Given the description of an element on the screen output the (x, y) to click on. 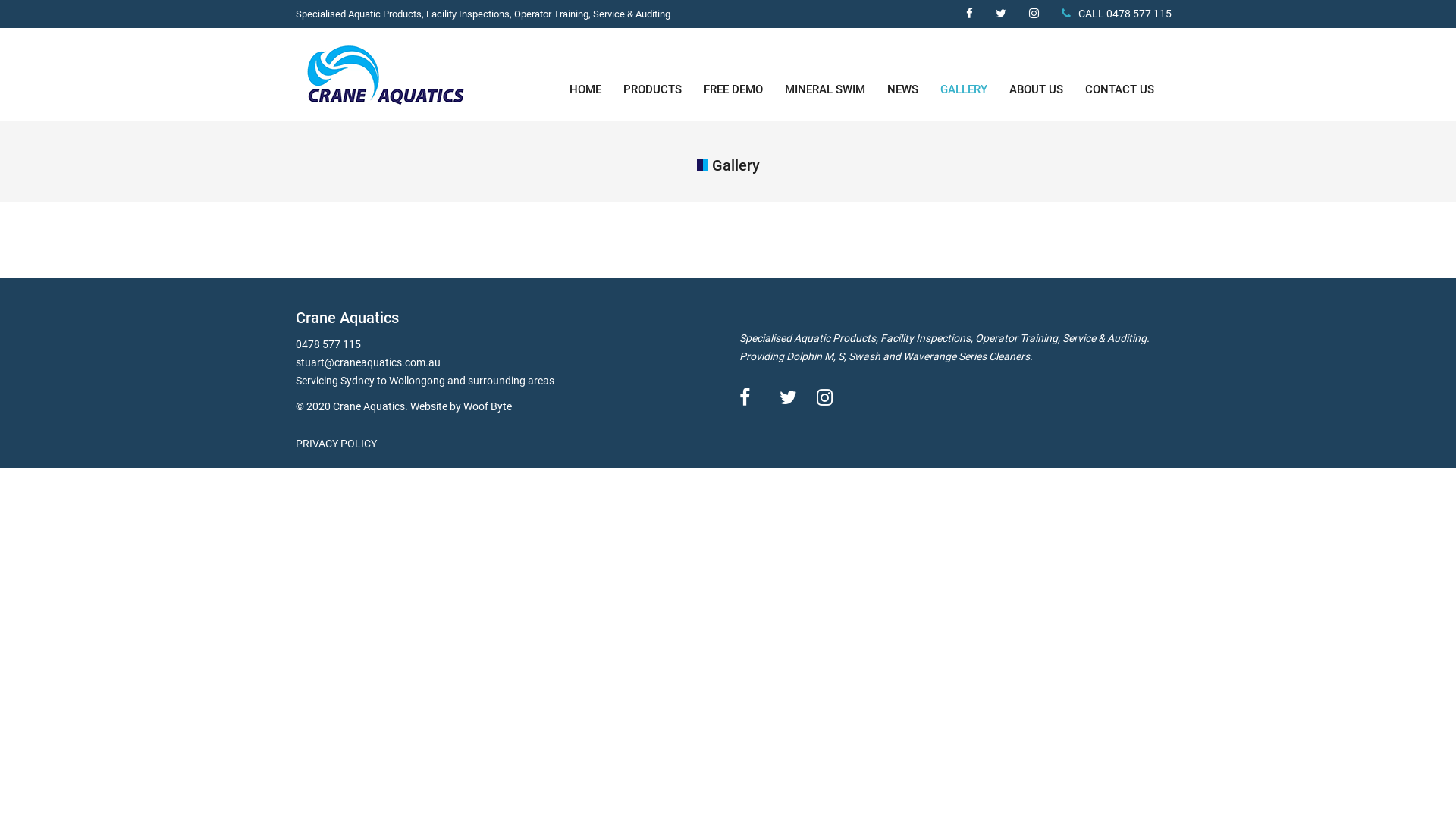
GALLERY Element type: text (963, 89)
PRIVACY POLICY Element type: text (335, 443)
Website by Woof Byte Element type: text (460, 406)
FREE DEMO Element type: text (733, 89)
ABOUT US Element type: text (1035, 89)
NEWS Element type: text (902, 89)
PRODUCTS Element type: text (652, 89)
stuart@craneaquatics.com.au Element type: text (367, 362)
HOME Element type: text (584, 89)
MINERAL SWIM Element type: text (824, 89)
CONTACT US Element type: text (1119, 89)
